Given the description of an element on the screen output the (x, y) to click on. 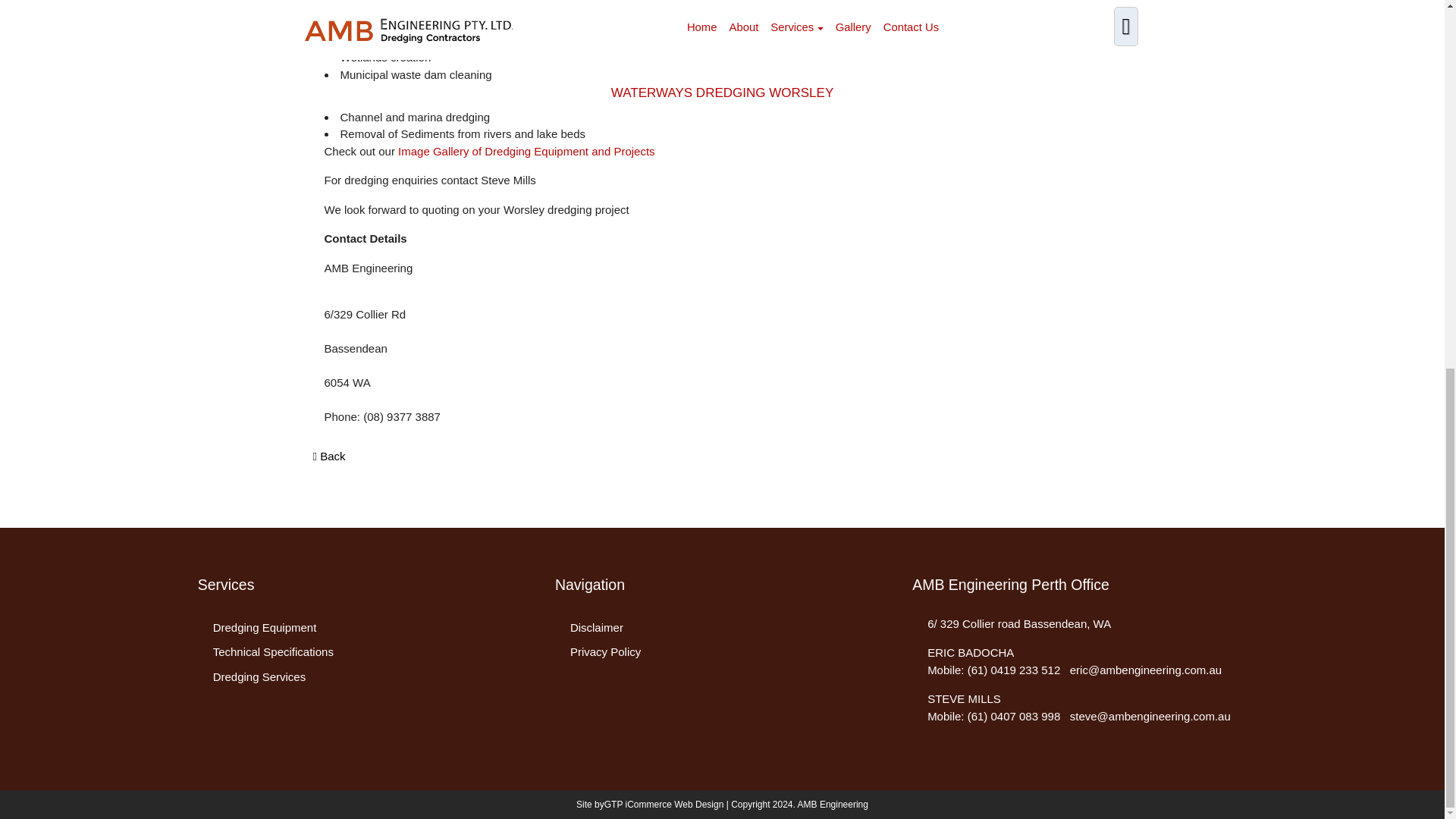
Dredging Services (258, 676)
 Back (329, 456)
GCS service Web Design (663, 804)
Privacy Policy (605, 651)
Dredging Equipment (264, 626)
Disclaimer (596, 626)
Image Gallery of Dredging Equipment and Projects (526, 151)
Technical Specifications (272, 651)
